Given the description of an element on the screen output the (x, y) to click on. 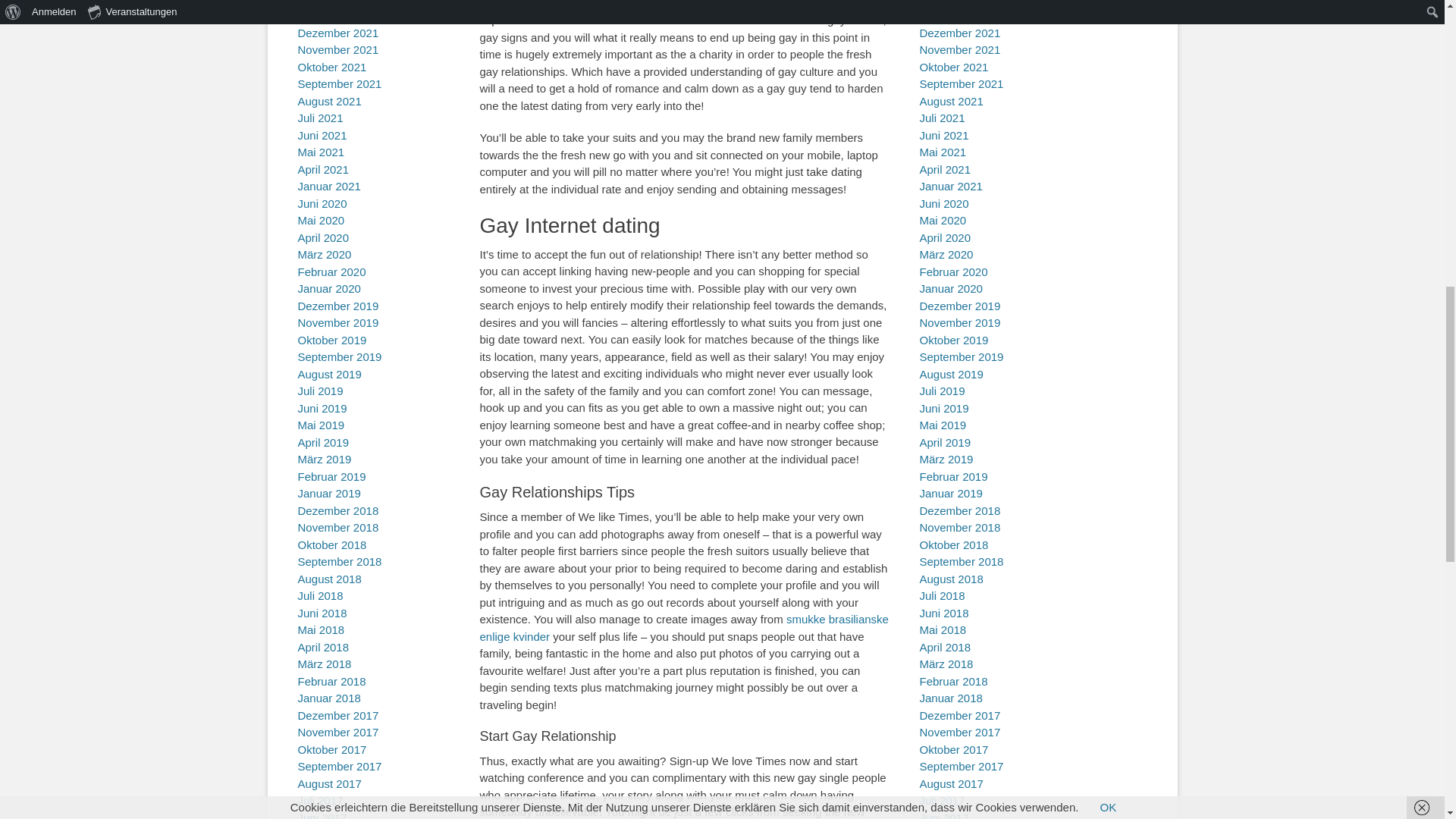
smukke brasilianske enlige kvinder (683, 627)
